Given the description of an element on the screen output the (x, y) to click on. 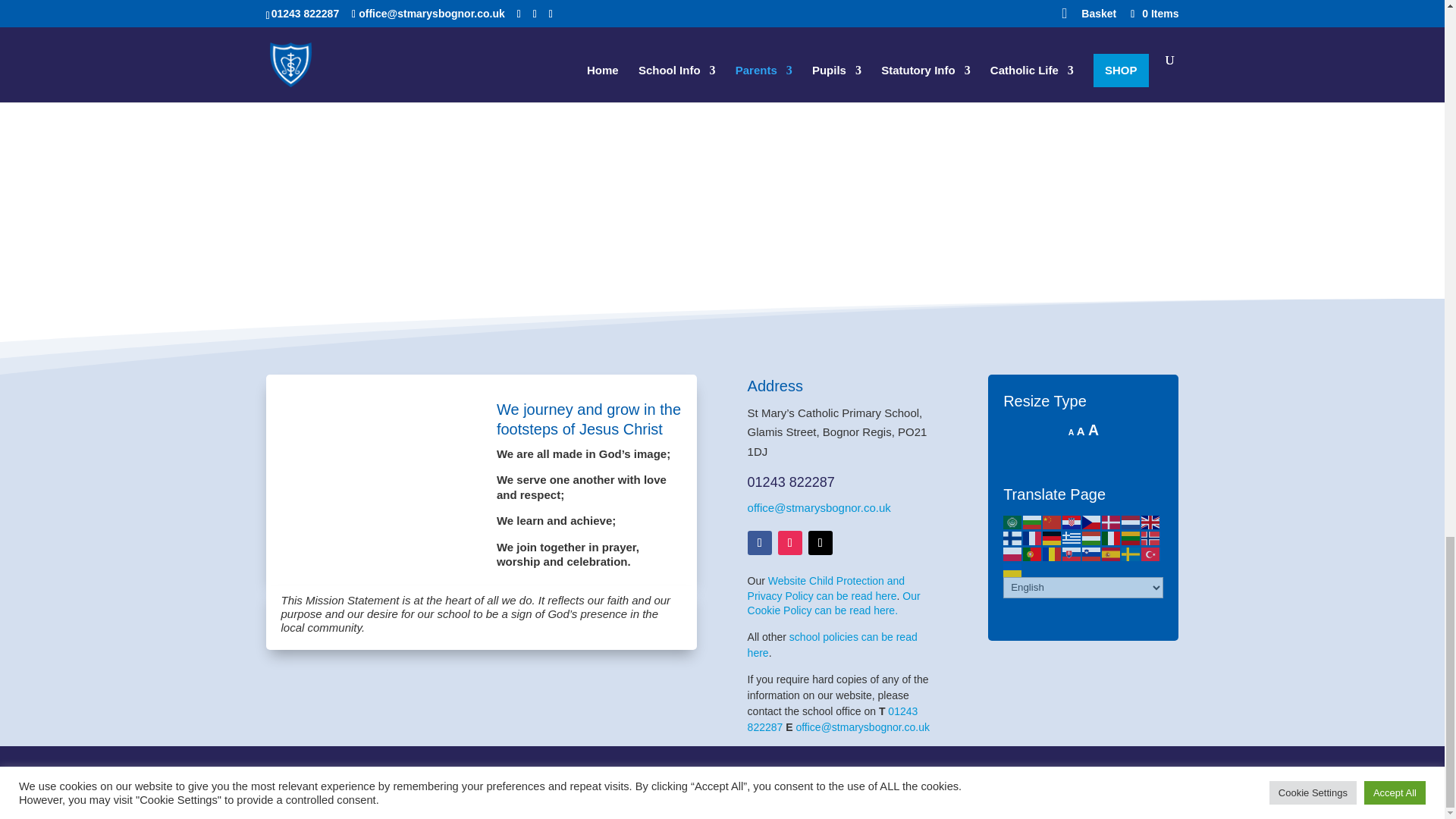
Reset font size (1080, 431)
Arabic (1013, 521)
Decrease font size (1071, 431)
Increase font size (1093, 429)
read our cookie policy (834, 603)
Website Child Protection and Privacy Policy  (826, 587)
Follow on X (820, 542)
School Policies and Reports (832, 644)
Follow on Instagram (789, 542)
Follow on Facebook (759, 542)
Croatian (1071, 521)
Bulgarian (1032, 521)
